Given the description of an element on the screen output the (x, y) to click on. 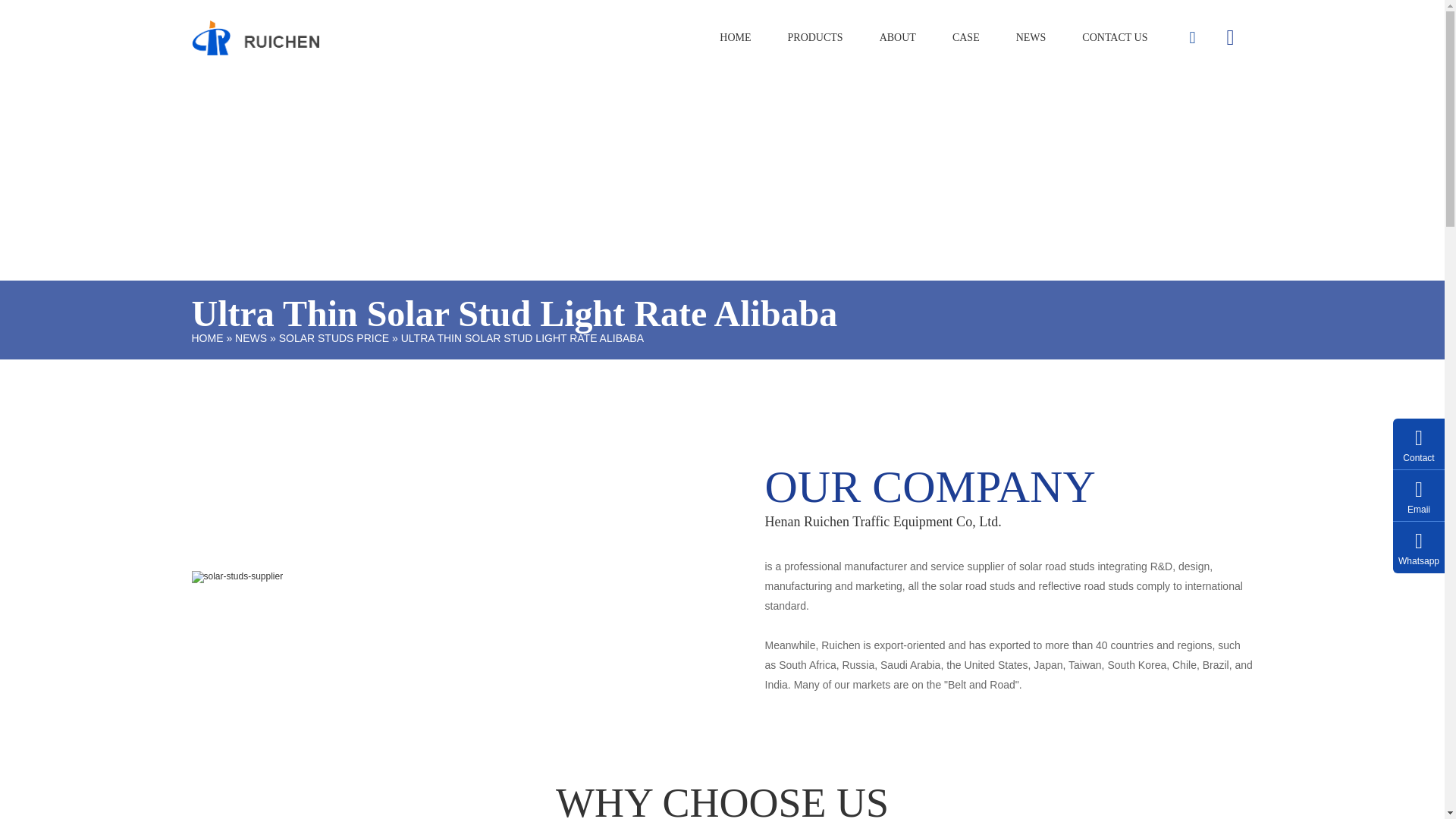
RUICHEN Solar Studs Bring You A Safety Road Traffic (254, 38)
Contact us (1114, 38)
CONTACT US (1114, 38)
NEWS (250, 337)
SOLAR STUDS PRICE (333, 337)
PRODUCTS (816, 38)
Products (816, 38)
